Given the description of an element on the screen output the (x, y) to click on. 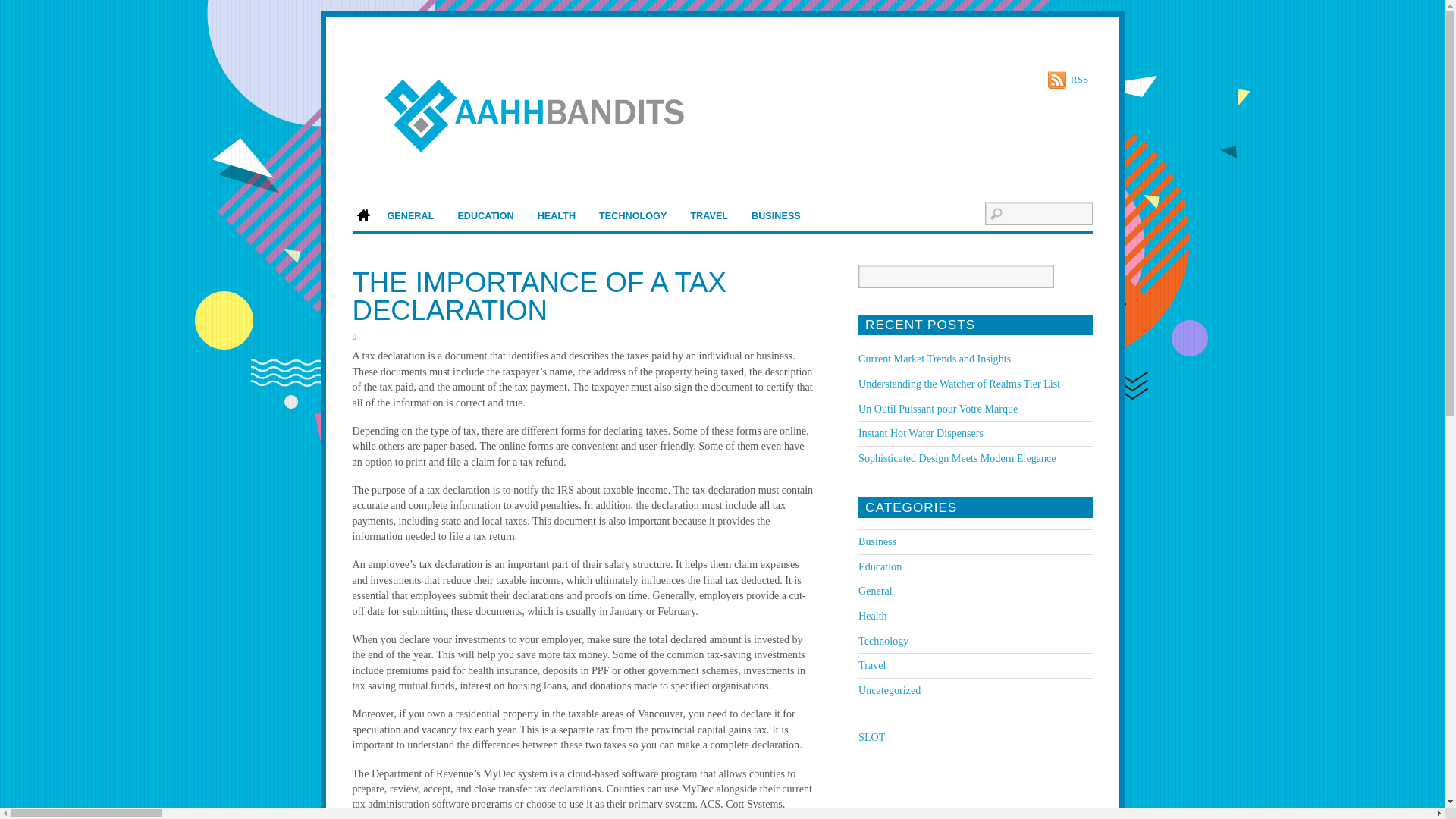
Uncategorized (889, 689)
Travel (872, 664)
SLOT (872, 736)
Un Outil Puissant pour Votre Marque (938, 408)
Education (880, 566)
Current Market Trends and Insights (934, 358)
General (875, 590)
Aahhbandits (546, 145)
RSS (1068, 79)
New 25 logo-21 (546, 109)
